Given the description of an element on the screen output the (x, y) to click on. 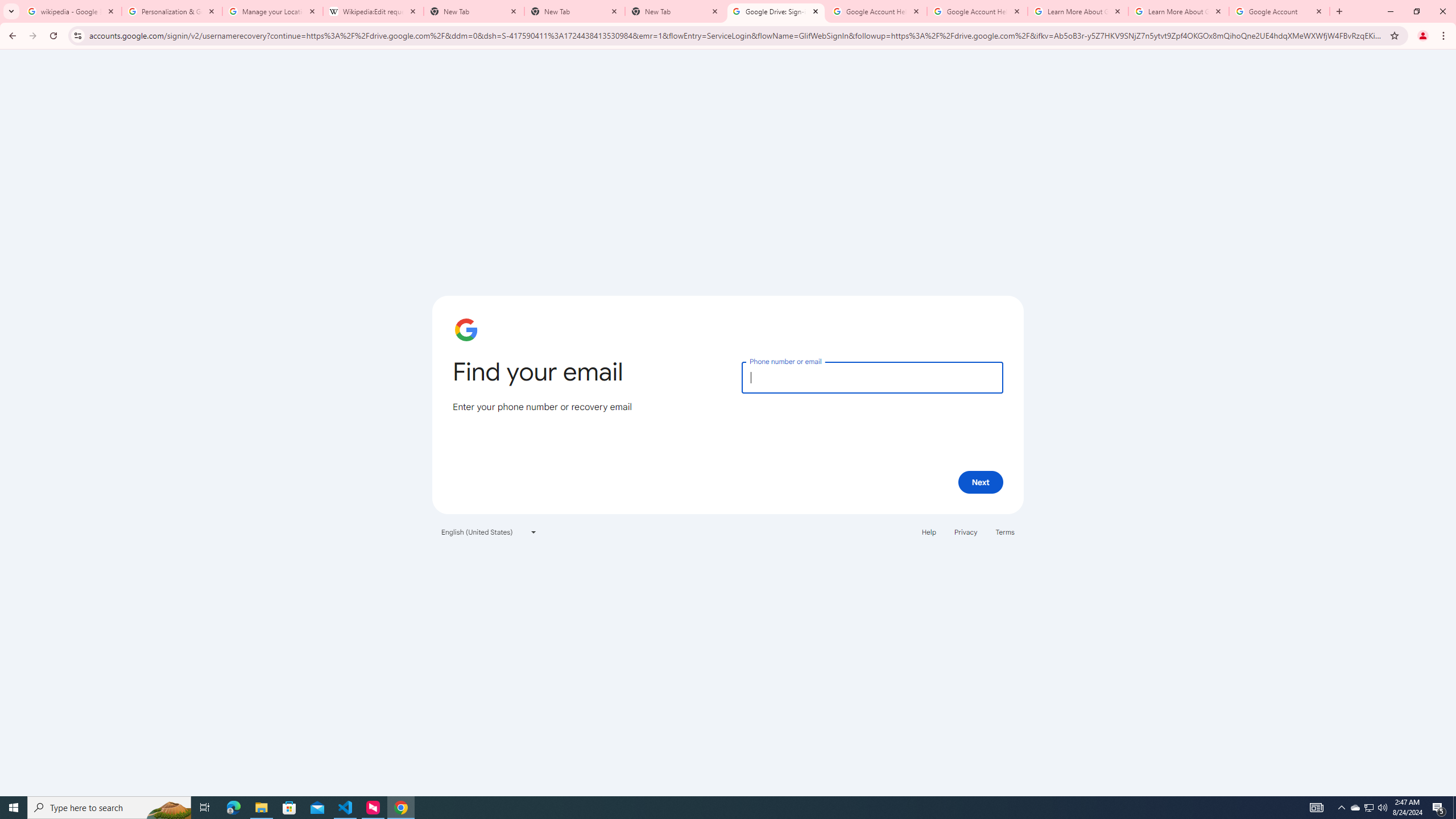
Google Account Help (976, 11)
Wikipedia:Edit requests - Wikipedia (373, 11)
